Given the description of an element on the screen output the (x, y) to click on. 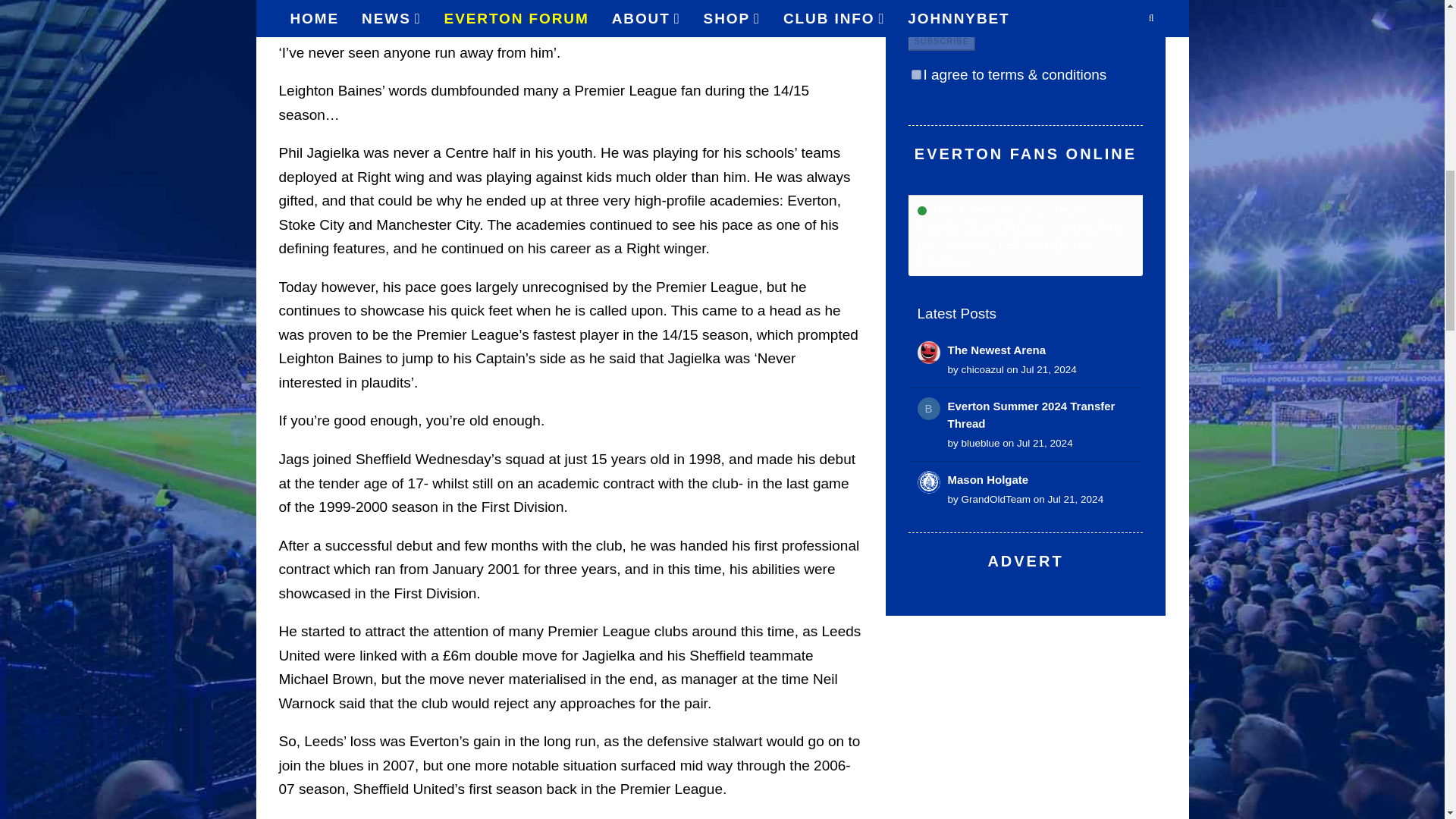
on (916, 74)
Subscribe (941, 40)
